Given the description of an element on the screen output the (x, y) to click on. 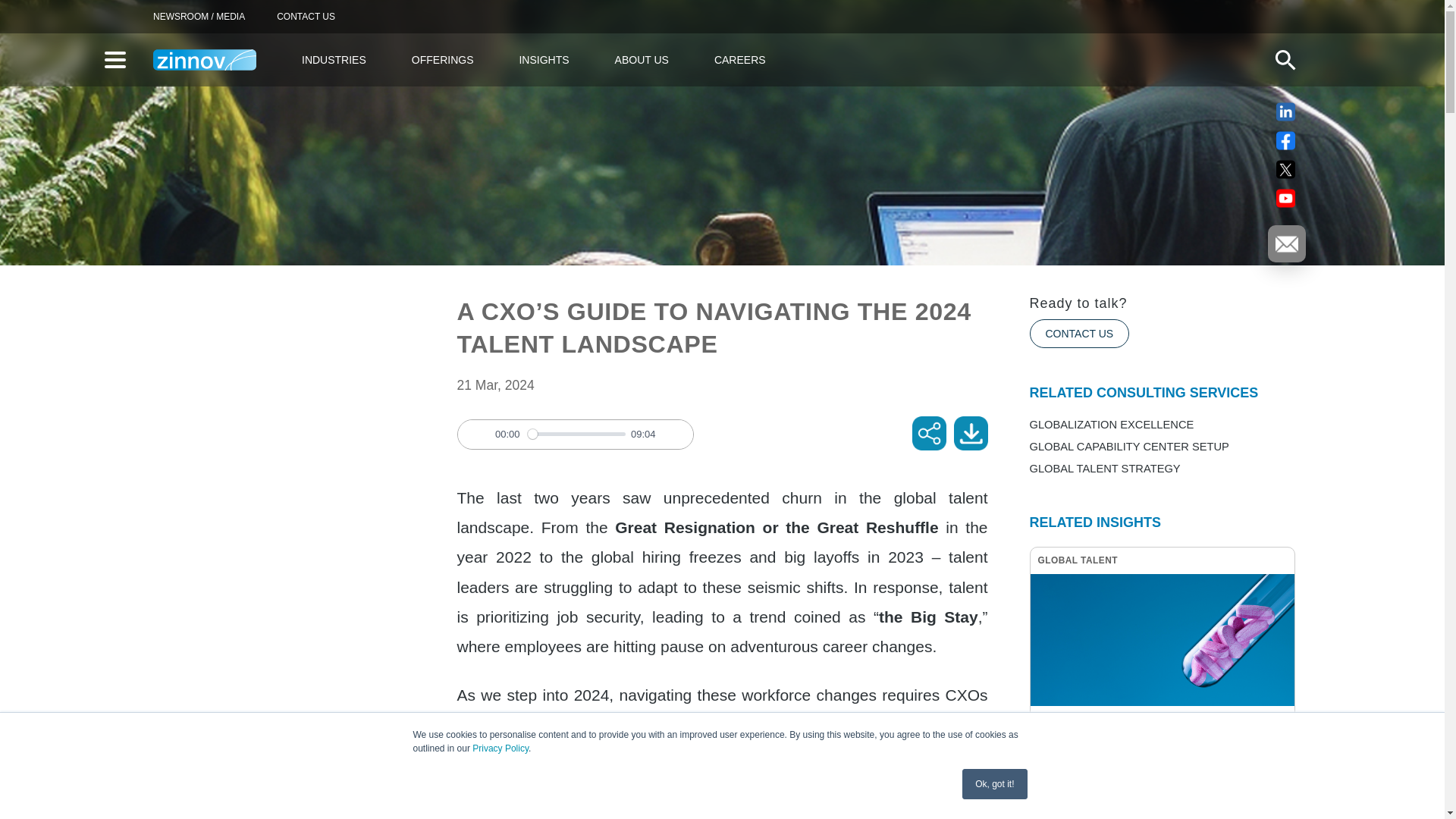
INDUSTRIES (337, 59)
CONTACT US (306, 16)
0 (576, 433)
AUTOMATION (189, 184)
CONTACT US (1079, 333)
INNOVATION (689, 184)
GLOBALIZATION EXCELLENCE (233, 184)
VIEW ALL INSIGHTS (940, 184)
PRIVATE EQUITY (700, 184)
OUR LEADERSHIP (202, 184)
PRIVATE EQUITY (506, 184)
DIGITAL TECHNOLOGIES (218, 184)
GAP PLATFORM (196, 184)
OFFERINGS (446, 59)
OUR PEOPLE AND CULTURE (228, 184)
